Given the description of an element on the screen output the (x, y) to click on. 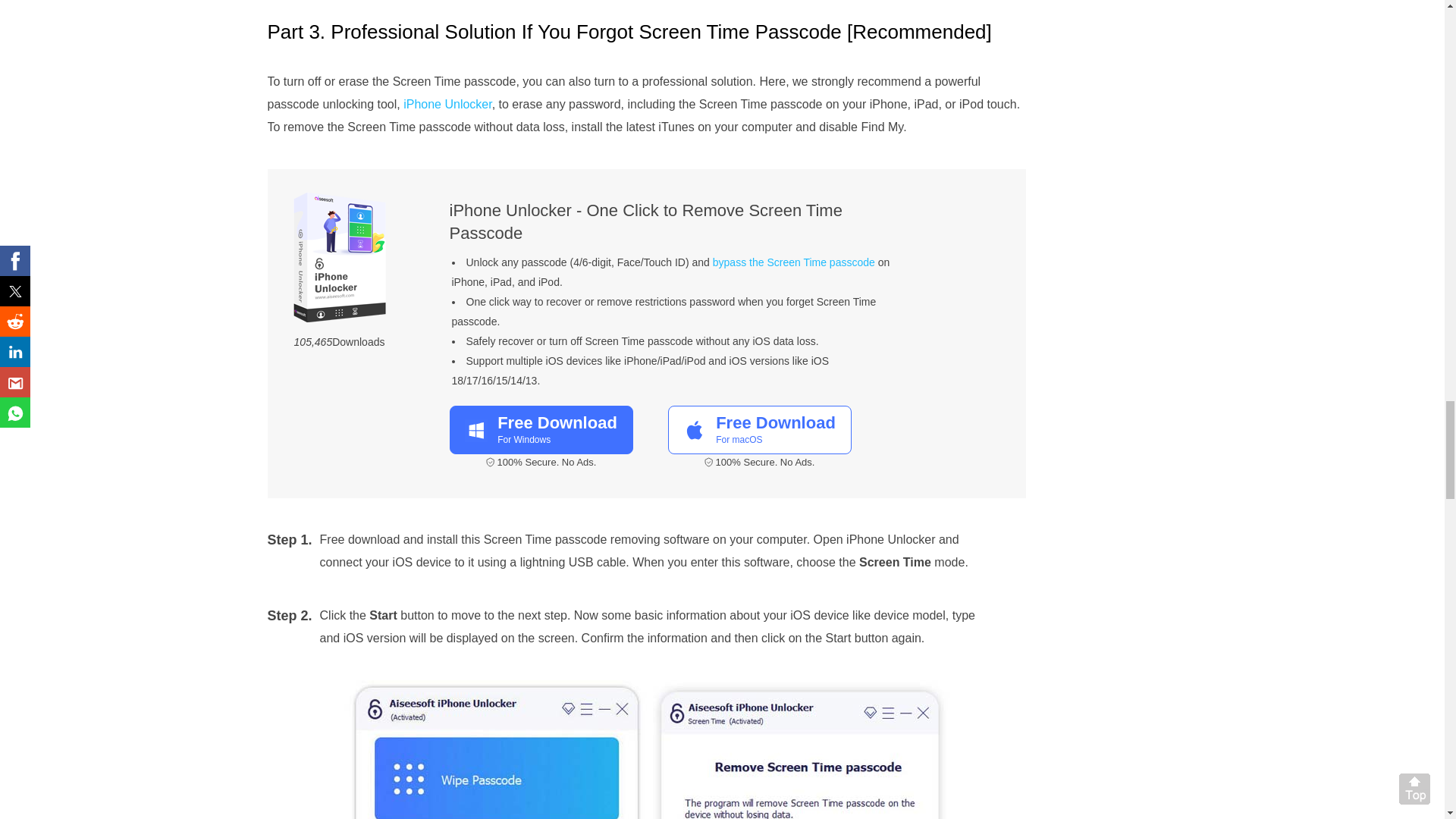
iPhone Unlocker (539, 429)
bypass the Screen Time passcode (447, 103)
iPhone Unlocker - One Click to Remove Screen Time Passcode (794, 262)
